Given the description of an element on the screen output the (x, y) to click on. 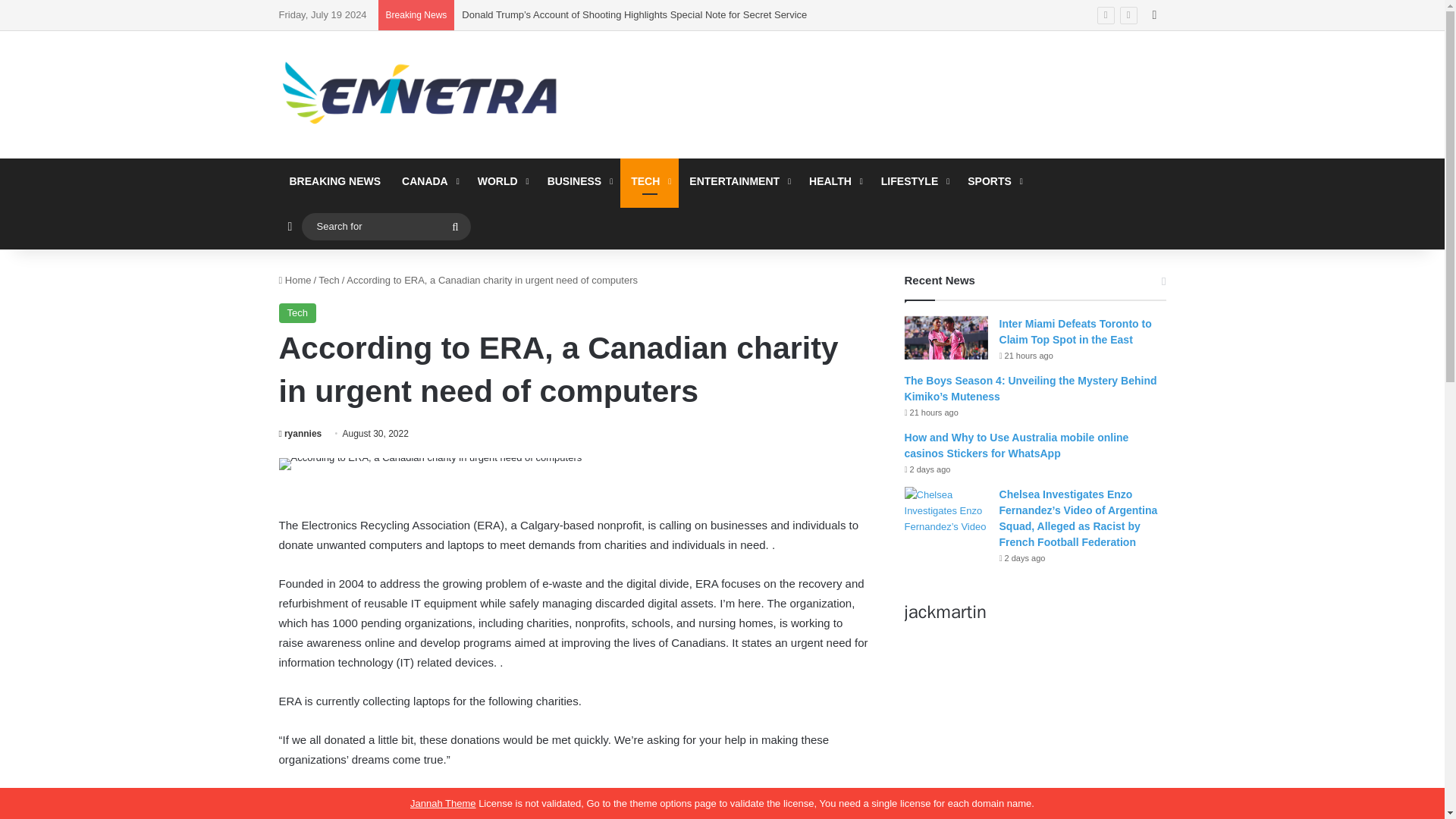
WORLD (502, 180)
Home (295, 279)
BREAKING NEWS (335, 180)
TECH (649, 180)
ryannies (300, 433)
SPORTS (993, 180)
Tech (297, 312)
Jannah Theme (443, 803)
LIFESTYLE (913, 180)
Search for (385, 225)
Search for (454, 225)
Eminetra Canada (419, 94)
BUSINESS (579, 180)
CANADA (429, 180)
ENTERTAINMENT (737, 180)
